Given the description of an element on the screen output the (x, y) to click on. 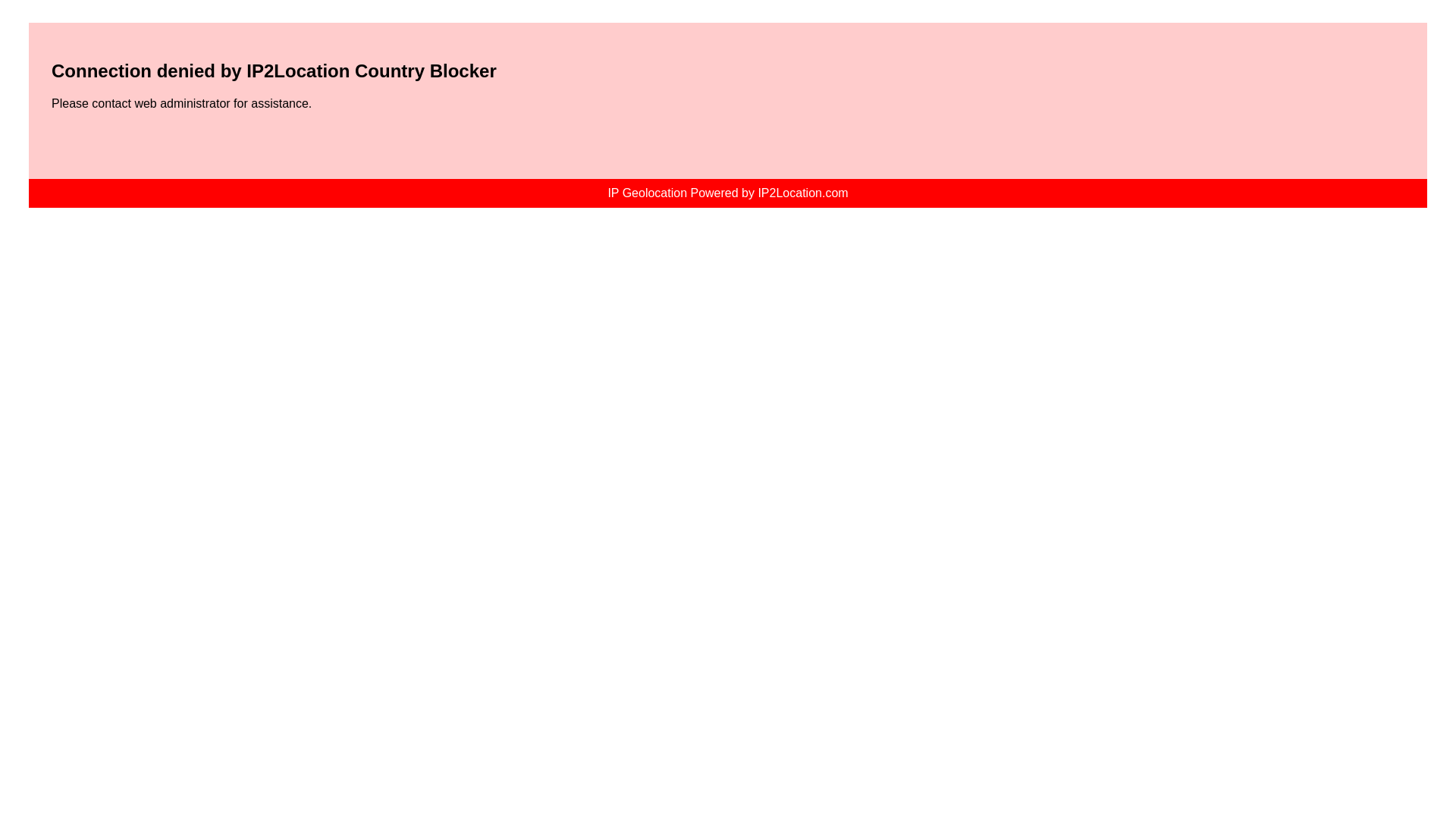
IP Geolocation Powered by IP2Location.com (727, 192)
